Given the description of an element on the screen output the (x, y) to click on. 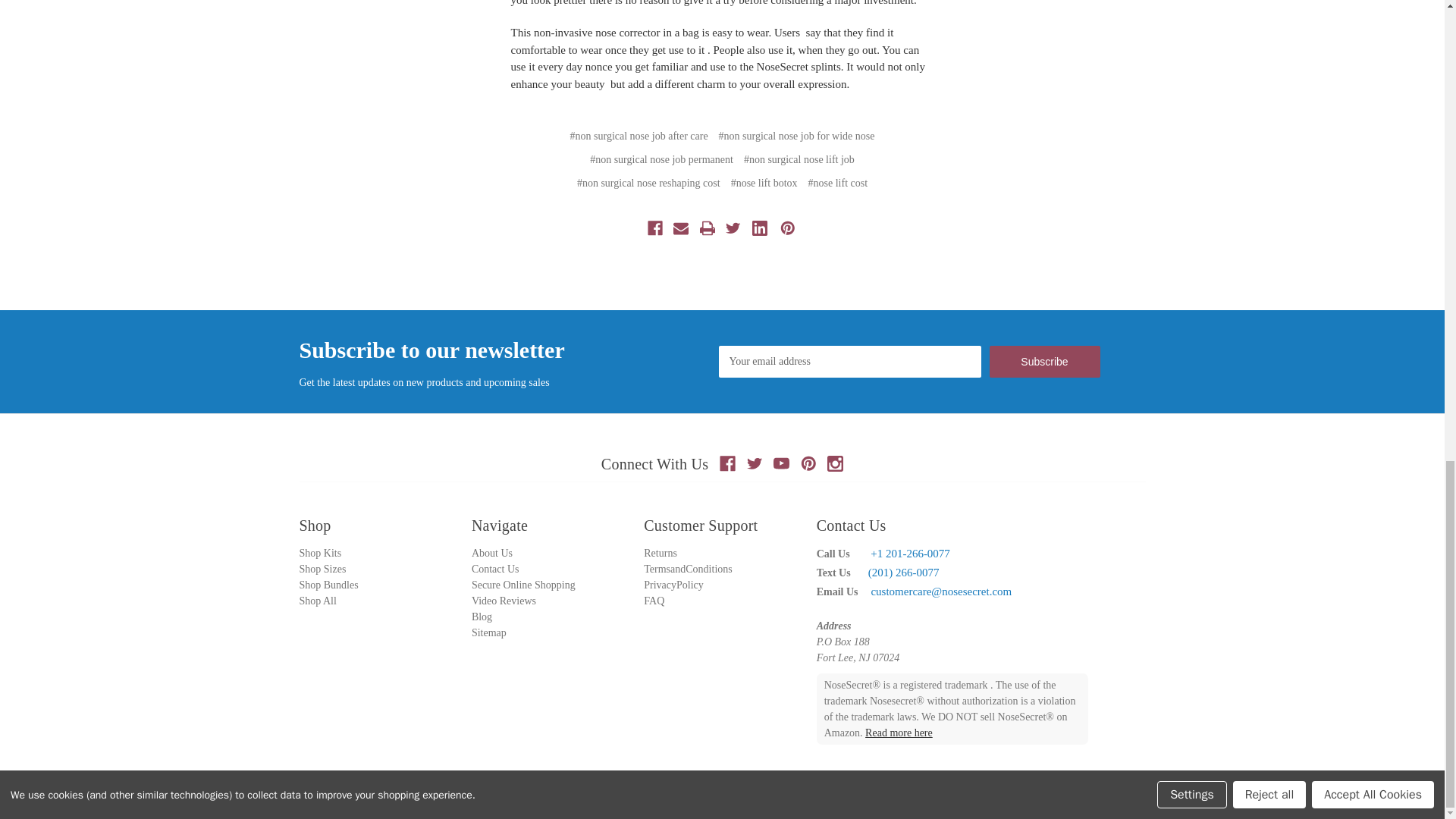
Pinterest (808, 463)
Subscribe (1043, 361)
Youtube (781, 463)
Linkedin (759, 228)
Twitter (733, 228)
Twitter (754, 463)
Pinterest (787, 228)
Email (680, 228)
Facebook (654, 228)
Facebook (727, 463)
Print (707, 228)
Instagram (835, 463)
